Given the description of an element on the screen output the (x, y) to click on. 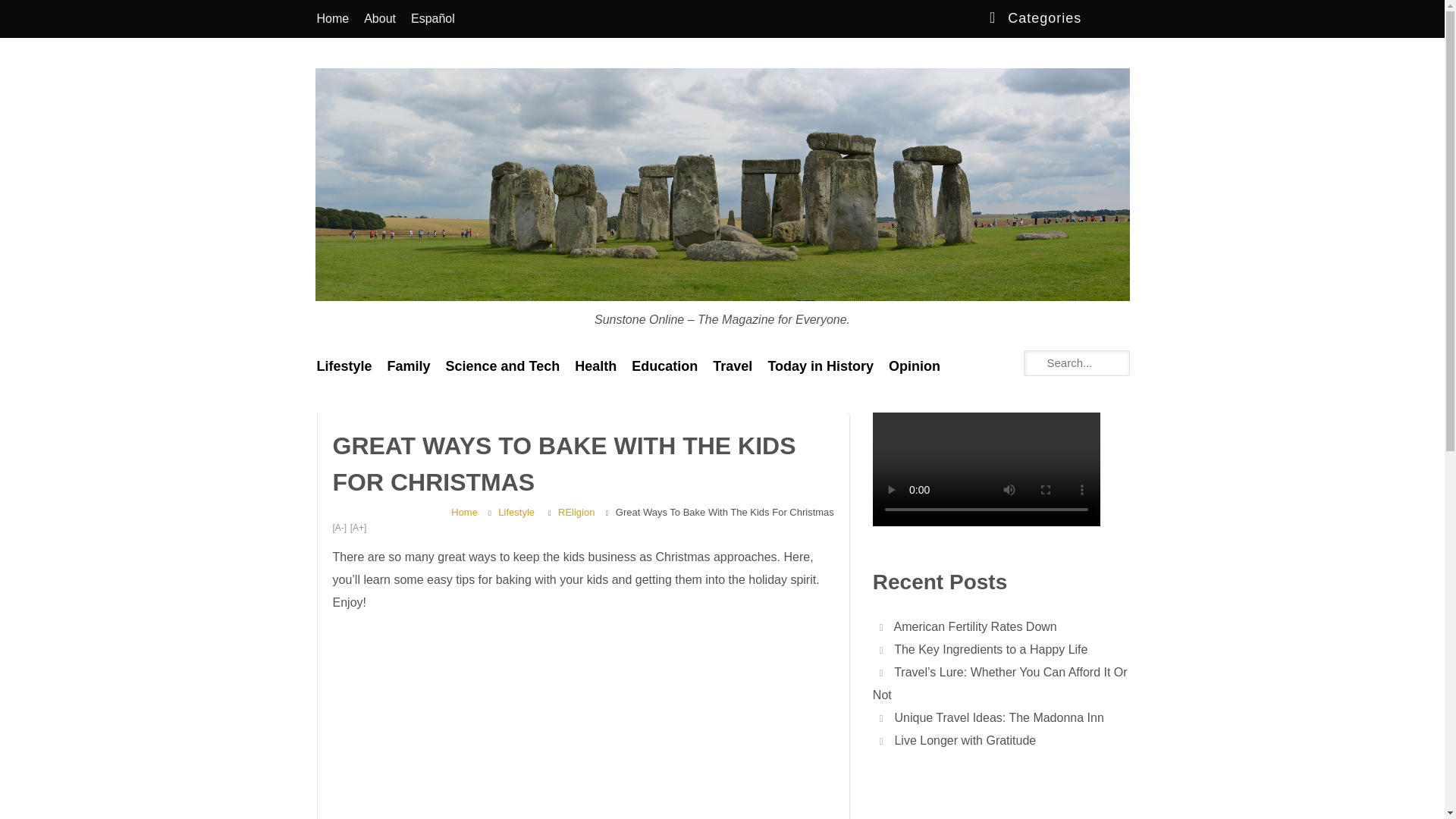
About (379, 18)
Travel (732, 366)
REligion (575, 512)
Opinion (913, 366)
Search (23, 12)
Home (464, 512)
Home (332, 18)
Lifestyle (344, 366)
Today in History (820, 366)
Lifestyle (515, 512)
